Given the description of an element on the screen output the (x, y) to click on. 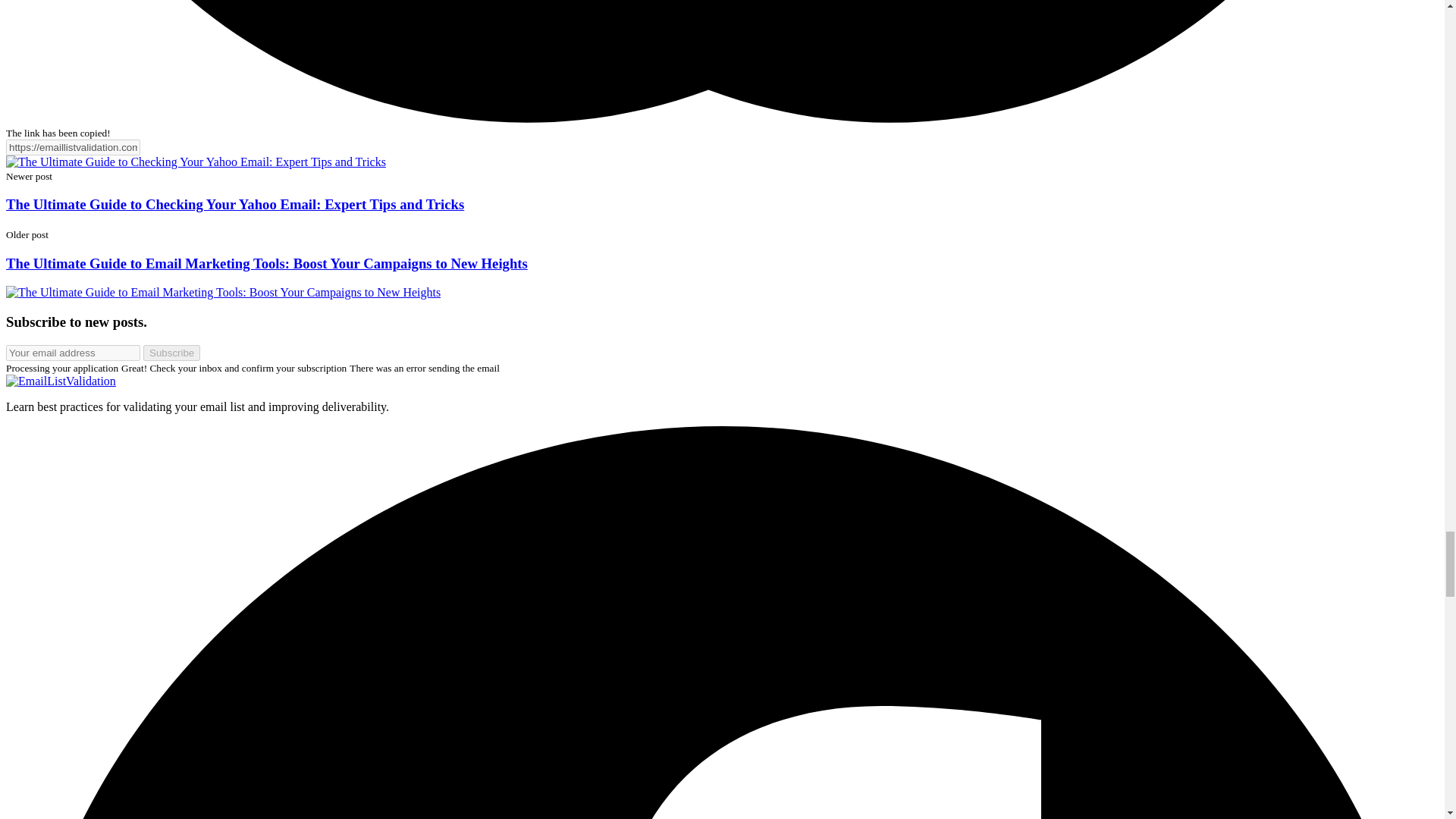
Subscribe (171, 352)
